Given the description of an element on the screen output the (x, y) to click on. 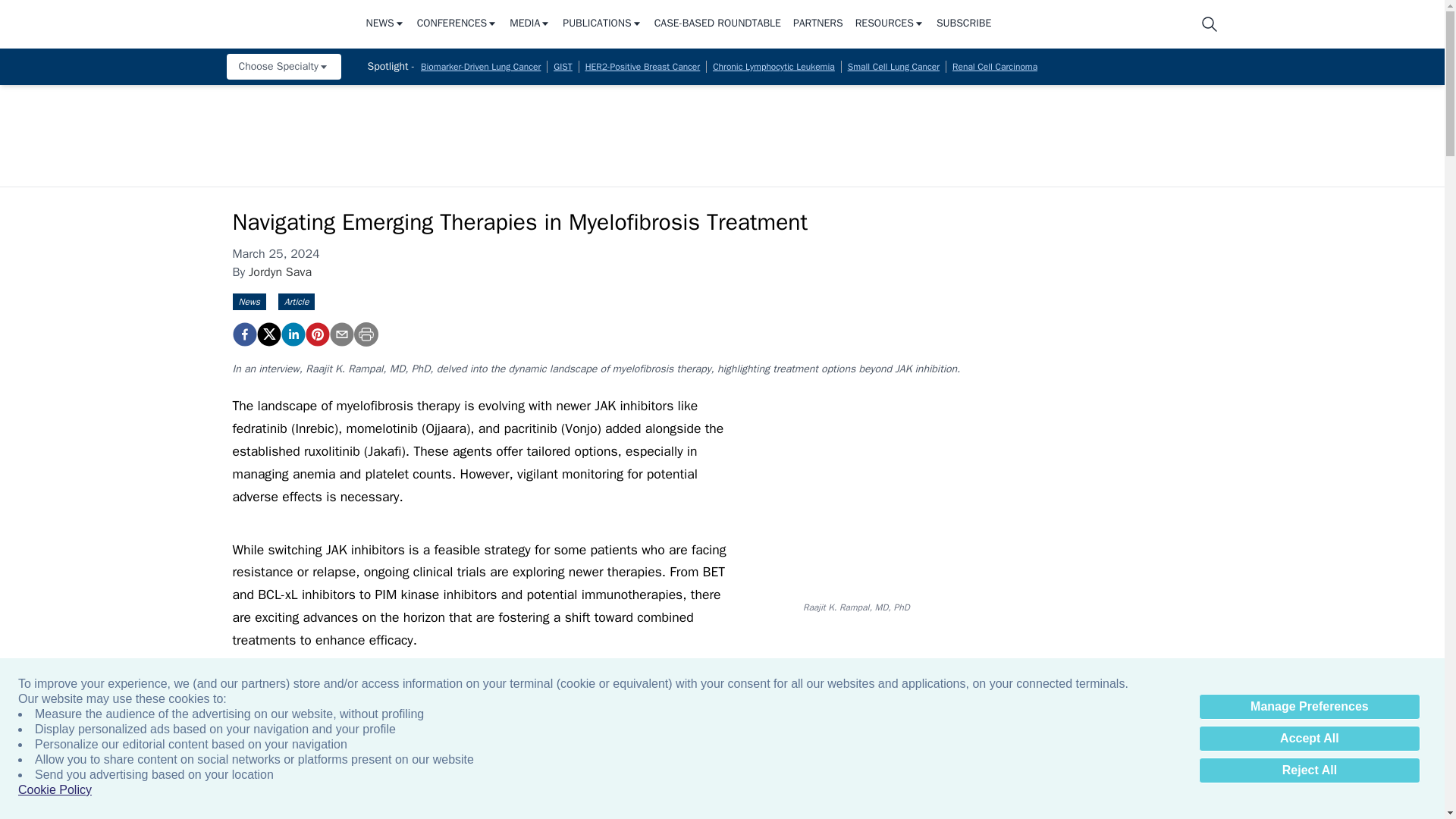
PUBLICATIONS (602, 23)
Cookie Policy (54, 789)
PARTNERS (818, 23)
Manage Preferences (1309, 706)
Accept All (1309, 738)
CONFERENCES (456, 23)
MEDIA (529, 23)
Navigating Emerging Therapies in Myelofibrosis Treatment (243, 334)
NEWS (384, 23)
CASE-BASED ROUNDTABLE (716, 23)
Navigating Emerging Therapies in Myelofibrosis Treatment (316, 334)
RESOURCES (890, 23)
Reject All (1309, 769)
